Given the description of an element on the screen output the (x, y) to click on. 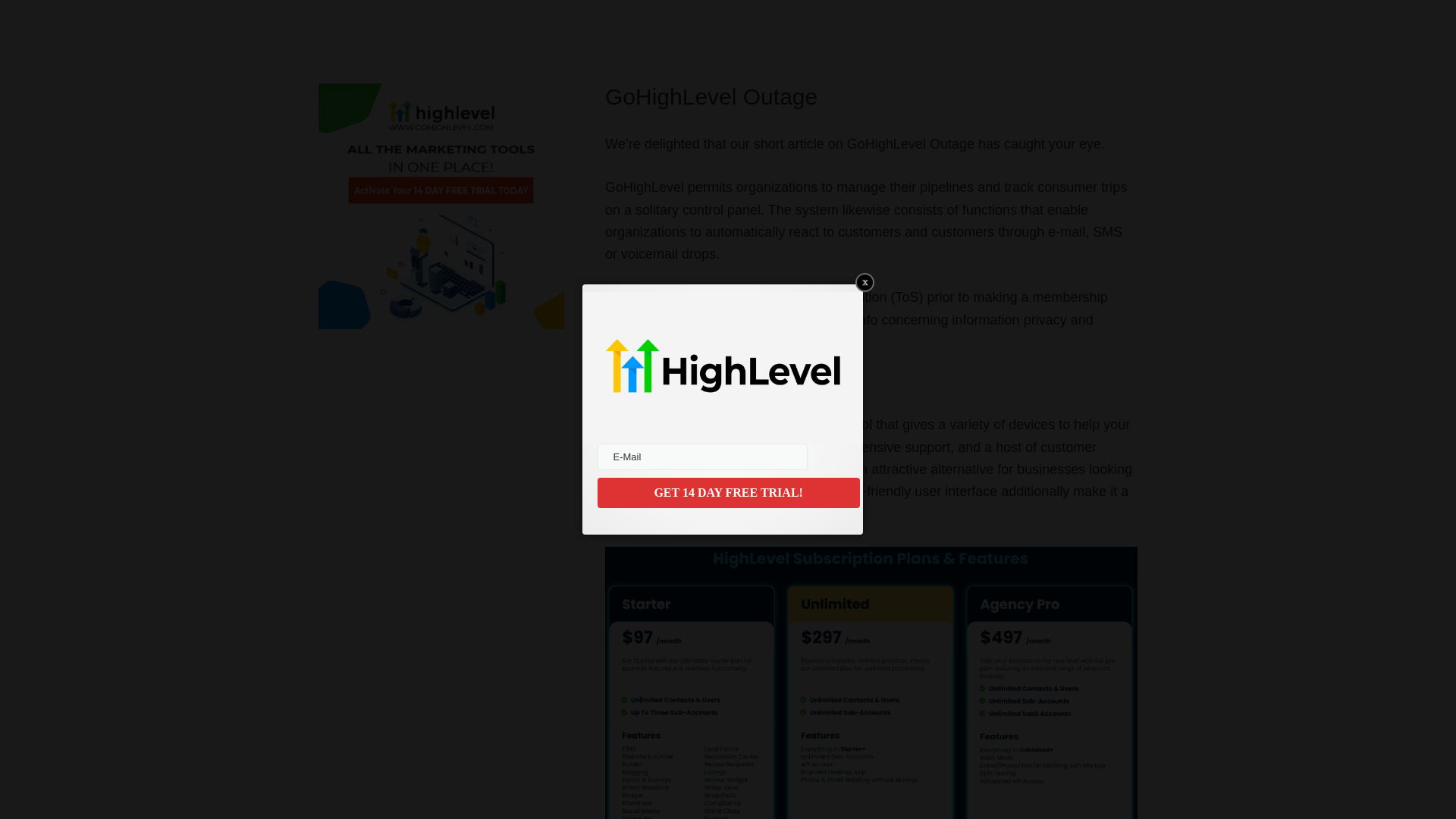
GET 14 DAY FREE TRIAL! (728, 492)
GET 14 DAY FREE TRIAL! (728, 492)
